Given the description of an element on the screen output the (x, y) to click on. 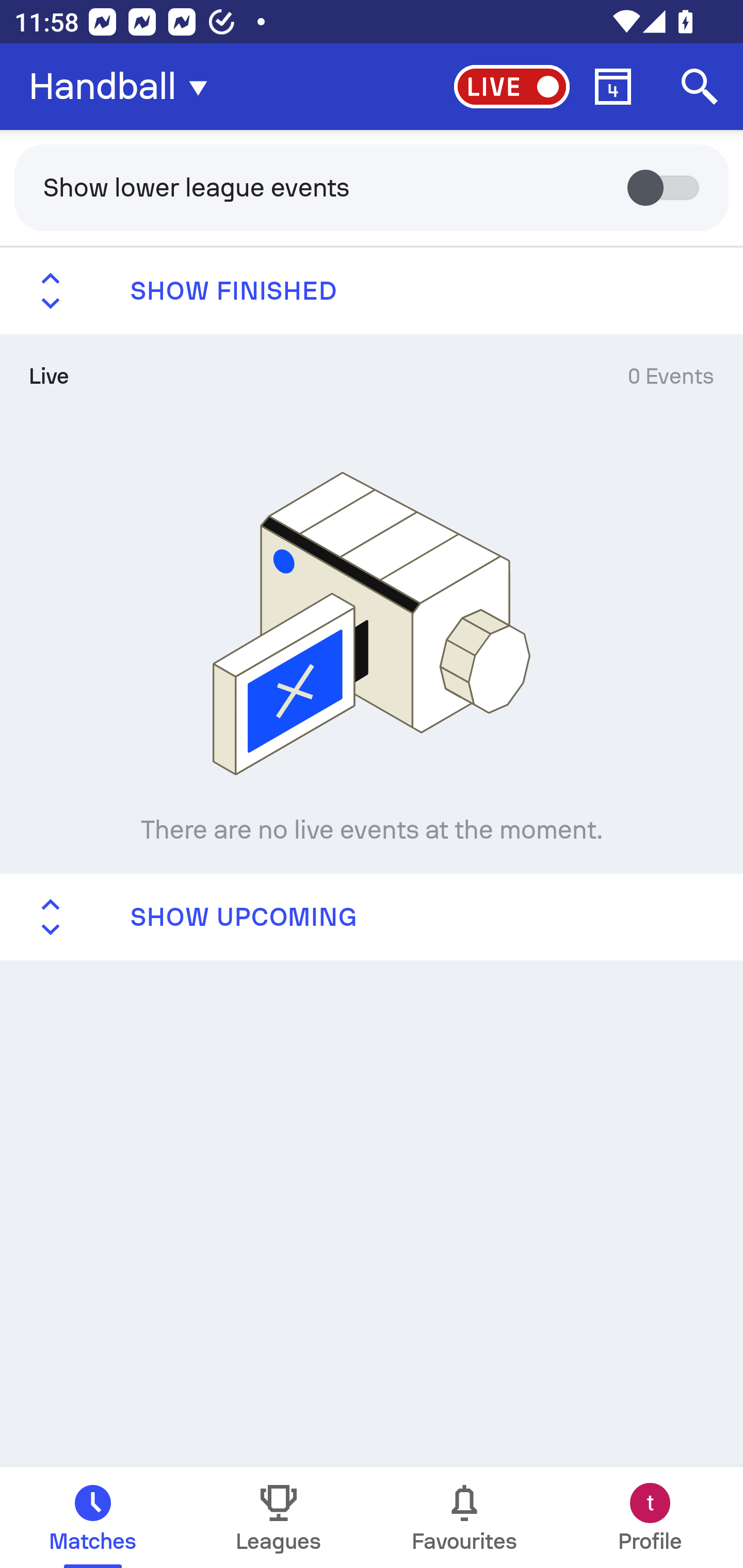
Handball (124, 86)
Calendar (612, 86)
Search (699, 86)
Show lower league events (371, 187)
SHOW FINISHED (371, 290)
SHOW UPCOMING (371, 916)
Leagues (278, 1517)
Favourites (464, 1517)
Profile (650, 1517)
